Given the description of an element on the screen output the (x, y) to click on. 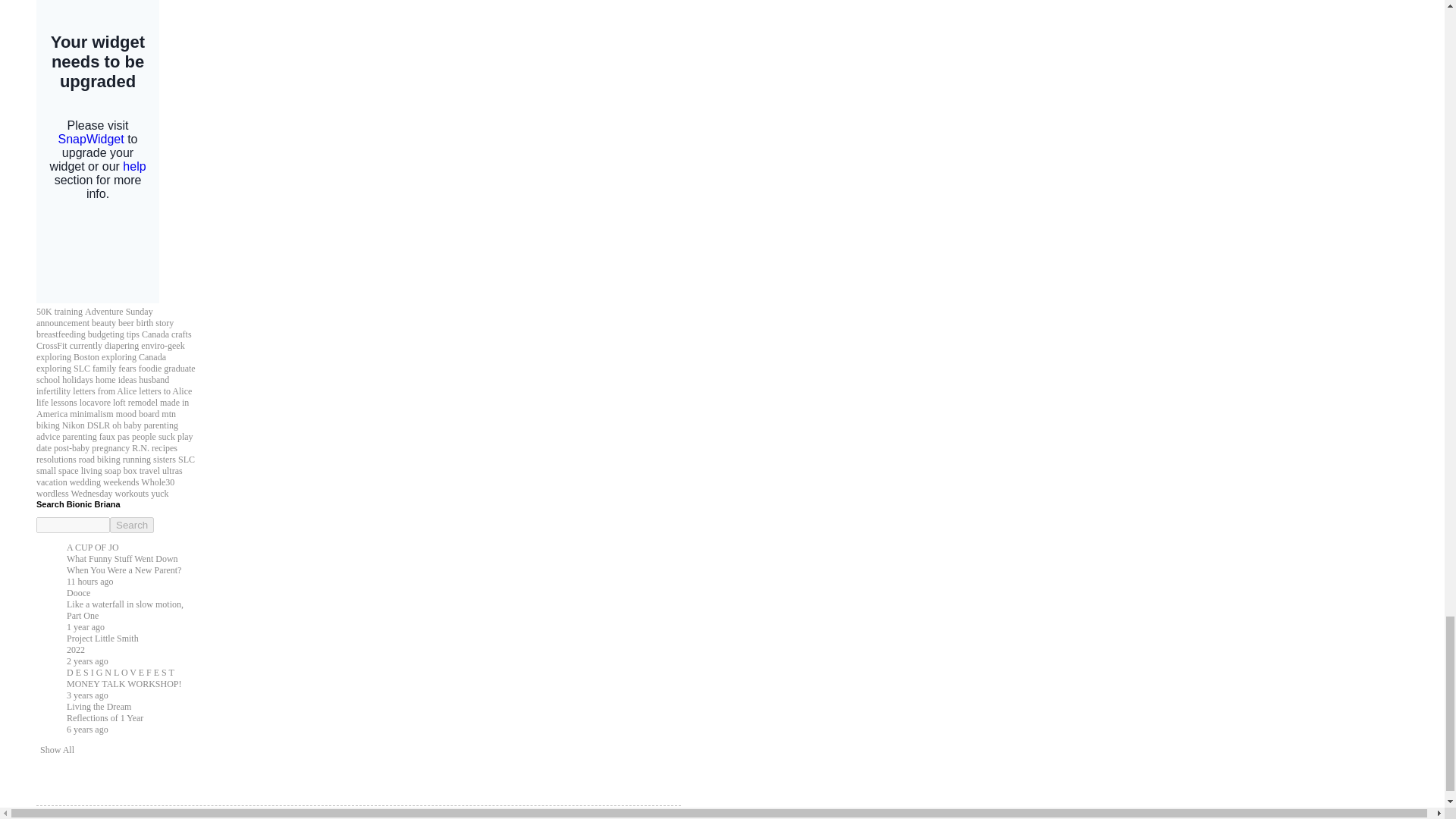
search (132, 524)
beer (125, 322)
search (73, 524)
birth story (155, 322)
beauty (103, 322)
Search (132, 524)
Adventure Sunday (118, 311)
announcement (62, 322)
breastfeeding (60, 334)
Search (132, 524)
50K training (59, 311)
